Given the description of an element on the screen output the (x, y) to click on. 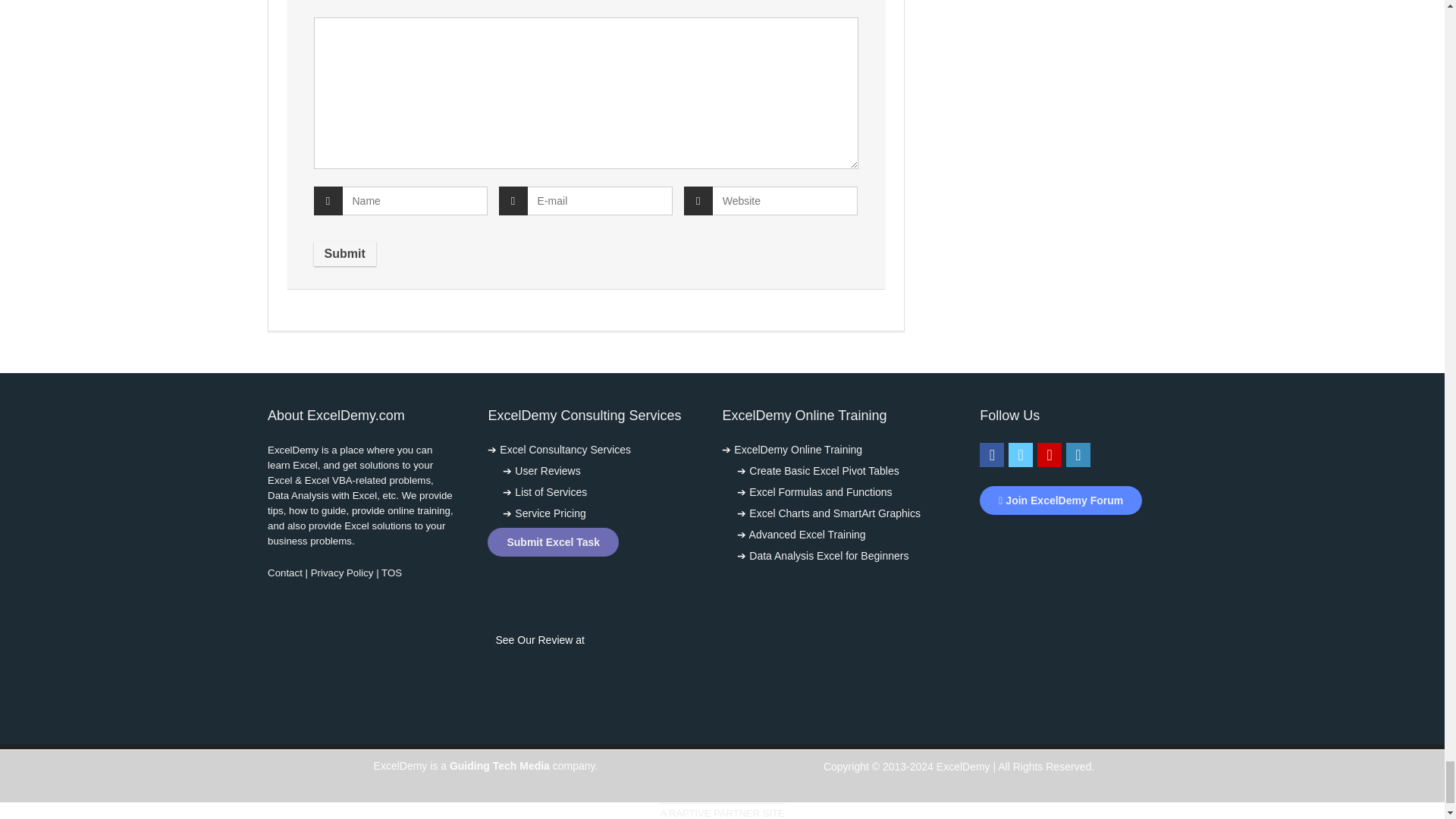
Submit (344, 253)
DMCA.com Protection Status (1073, 540)
